Given the description of an element on the screen output the (x, y) to click on. 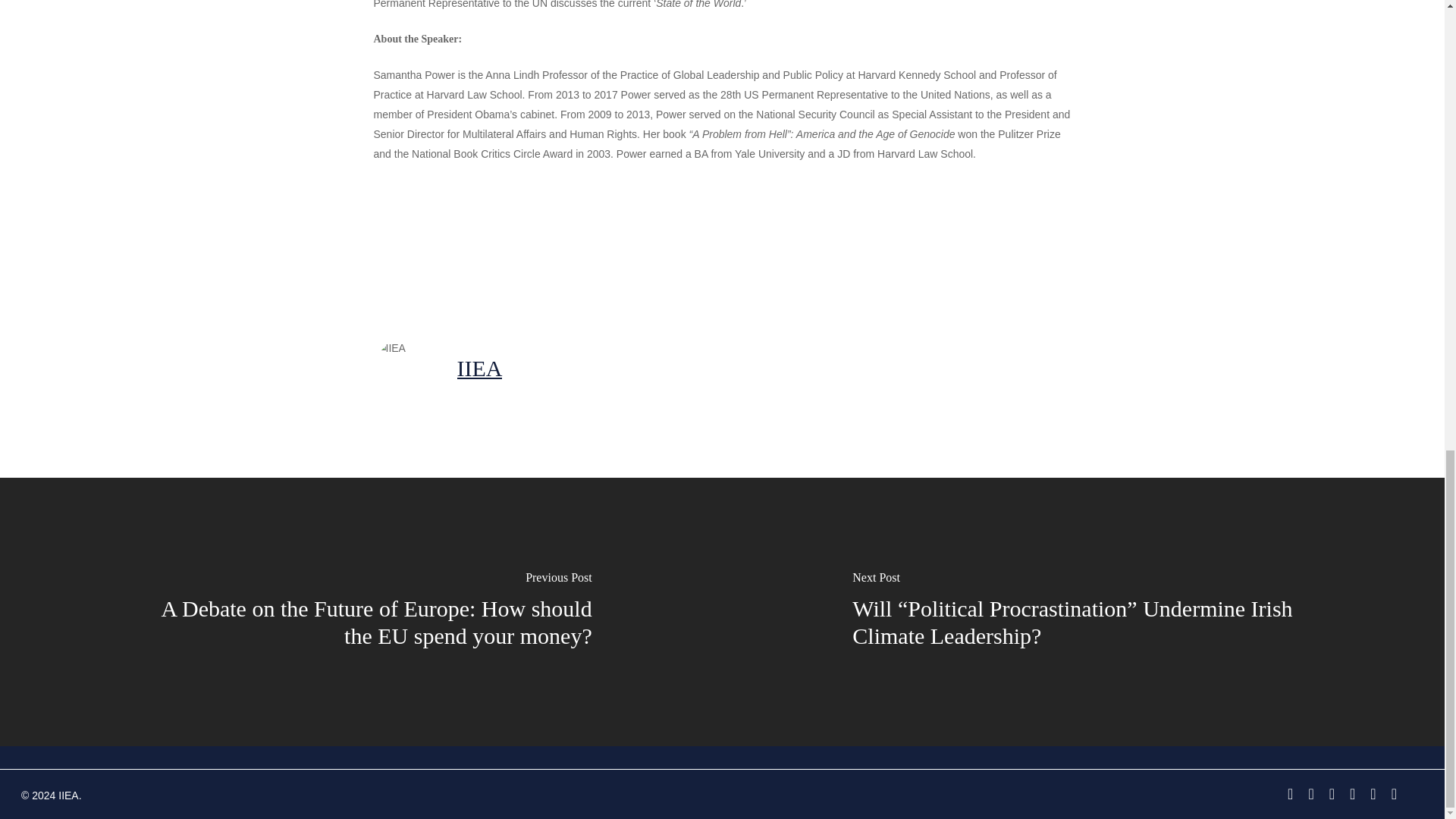
Share this (414, 246)
Pin this (692, 246)
Share this (604, 246)
Share (414, 246)
Share (604, 246)
Tweet this (510, 246)
Tweet (510, 246)
IIEA (479, 367)
Pin (692, 246)
